Given the description of an element on the screen output the (x, y) to click on. 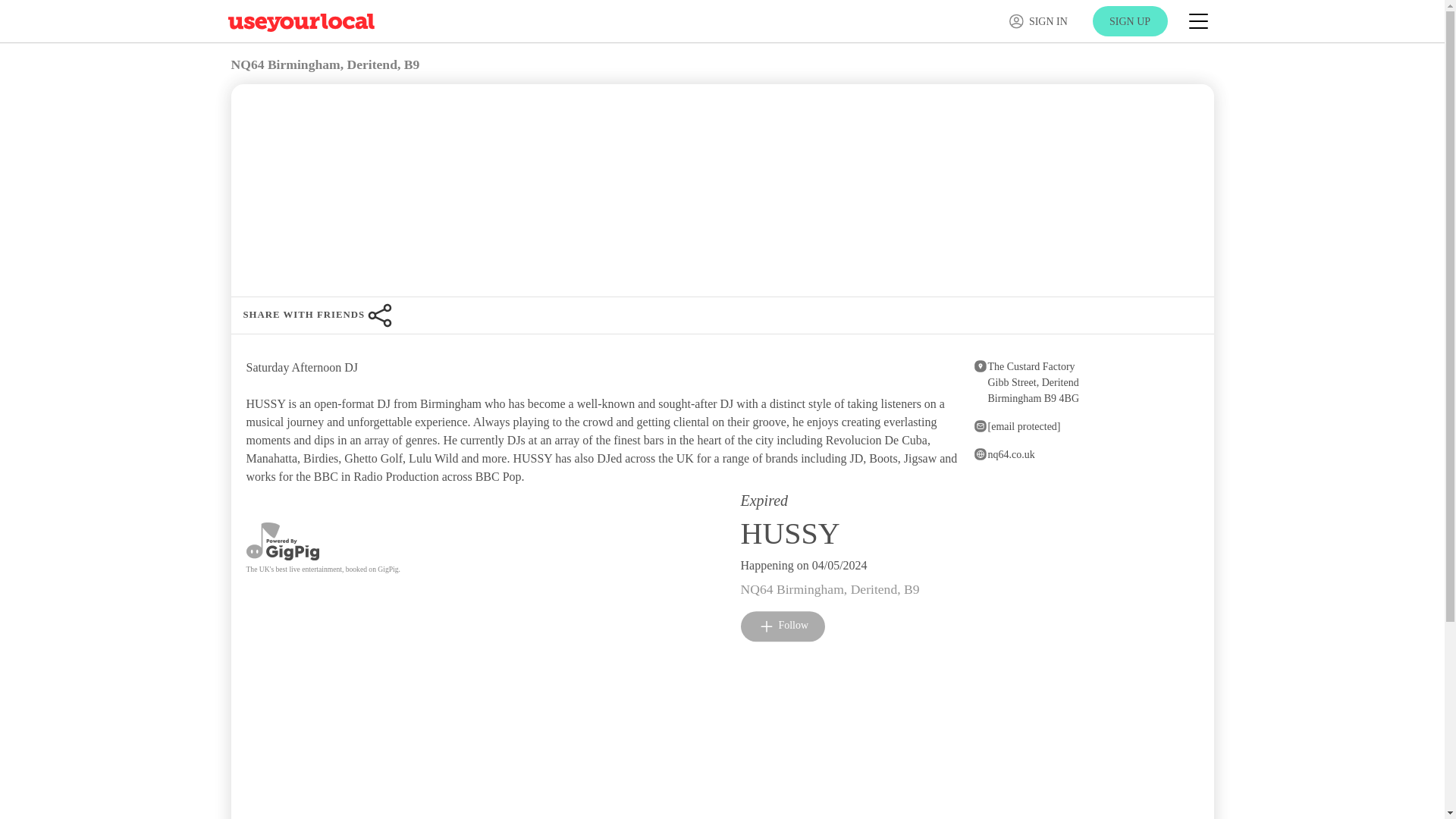
Follow (782, 625)
nq64.co.uk (1083, 454)
SIGN UP (1025, 382)
The UK's best live entertainment, booked on GigPig. (1129, 20)
SIGN UP (322, 554)
SIGN IN (1130, 20)
NQ64 Birmingham, Deritend, B9 (1037, 21)
Follow (324, 64)
NQ64 Birmingham, Deritend, B9 (782, 625)
